Given the description of an element on the screen output the (x, y) to click on. 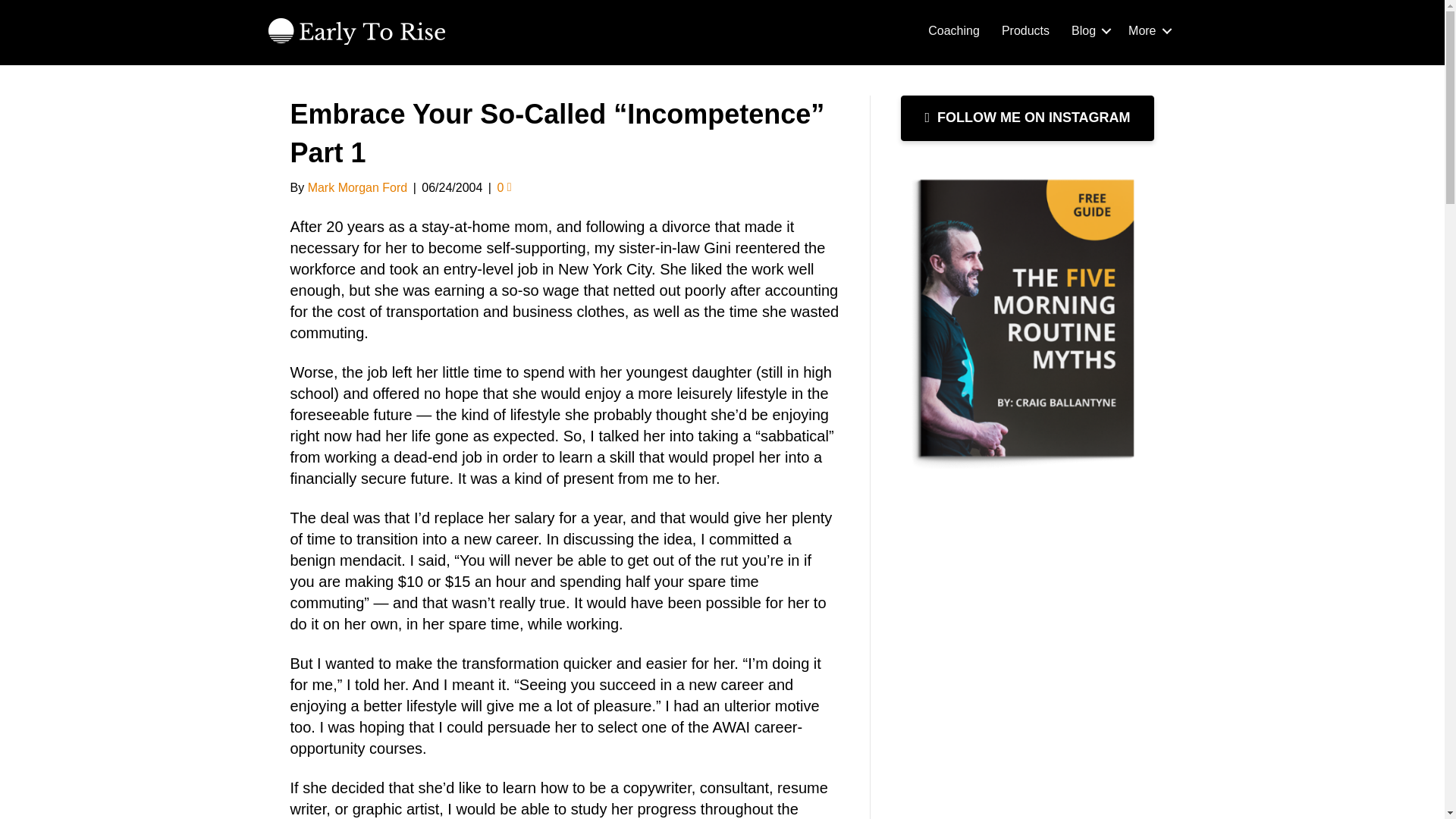
More (1147, 30)
Coaching (953, 30)
0 (503, 187)
Blog (1088, 30)
FOLLOW ME ON INSTAGRAM (1027, 117)
etr-logo-white (356, 31)
Products (1025, 30)
Time ownership blueprint (1027, 319)
Mark Morgan Ford (357, 187)
